Given the description of an element on the screen output the (x, y) to click on. 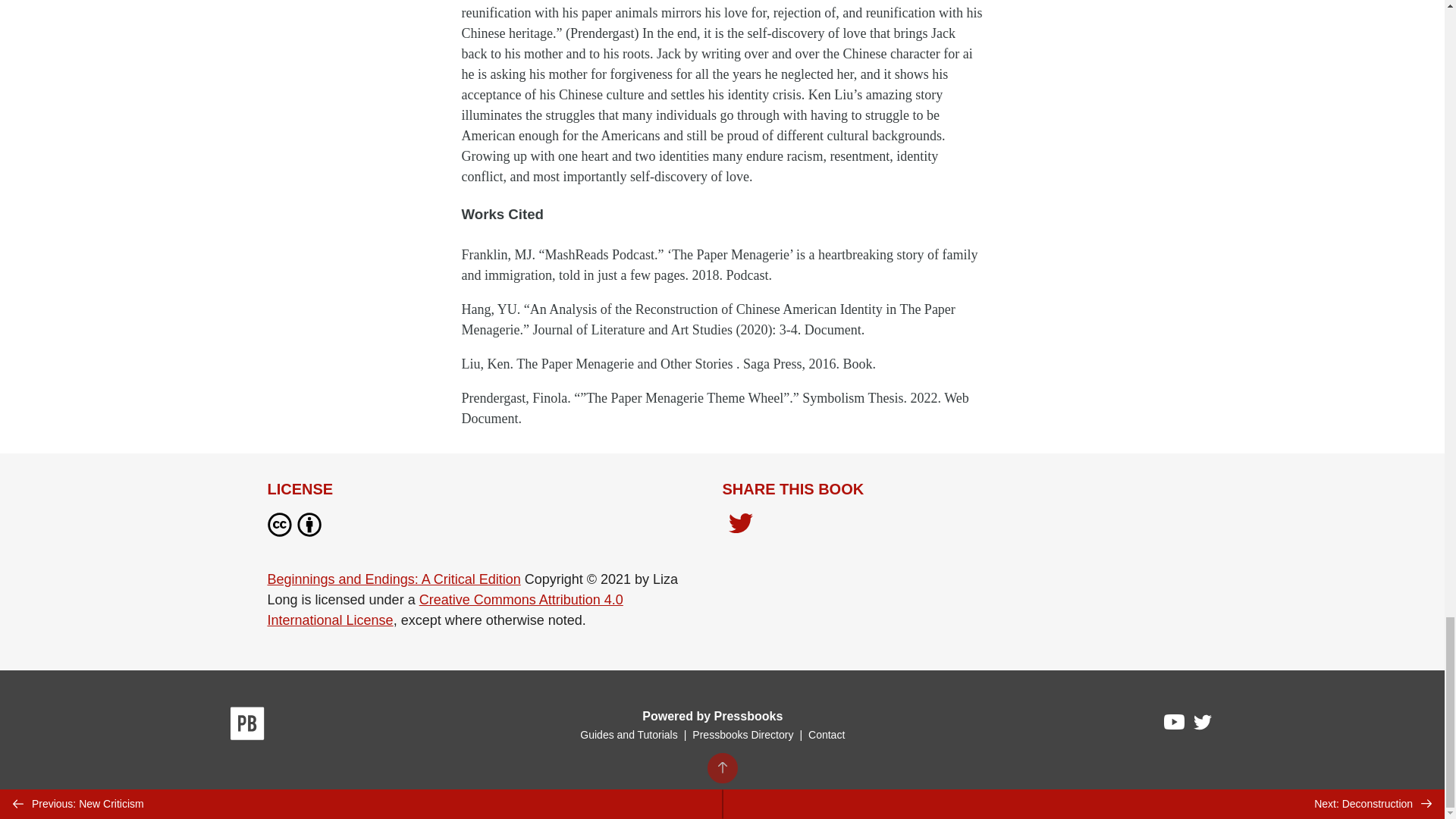
Share on Twitter (740, 524)
Beginnings and Endings: A Critical Edition (392, 579)
Guides and Tutorials (627, 734)
Pressbooks Directory (742, 734)
Powered by Pressbooks (712, 716)
Pressbooks on YouTube (1174, 725)
Share on Twitter (740, 527)
Contact (826, 734)
Creative Commons Attribution 4.0 International License (444, 610)
